Given the description of an element on the screen output the (x, y) to click on. 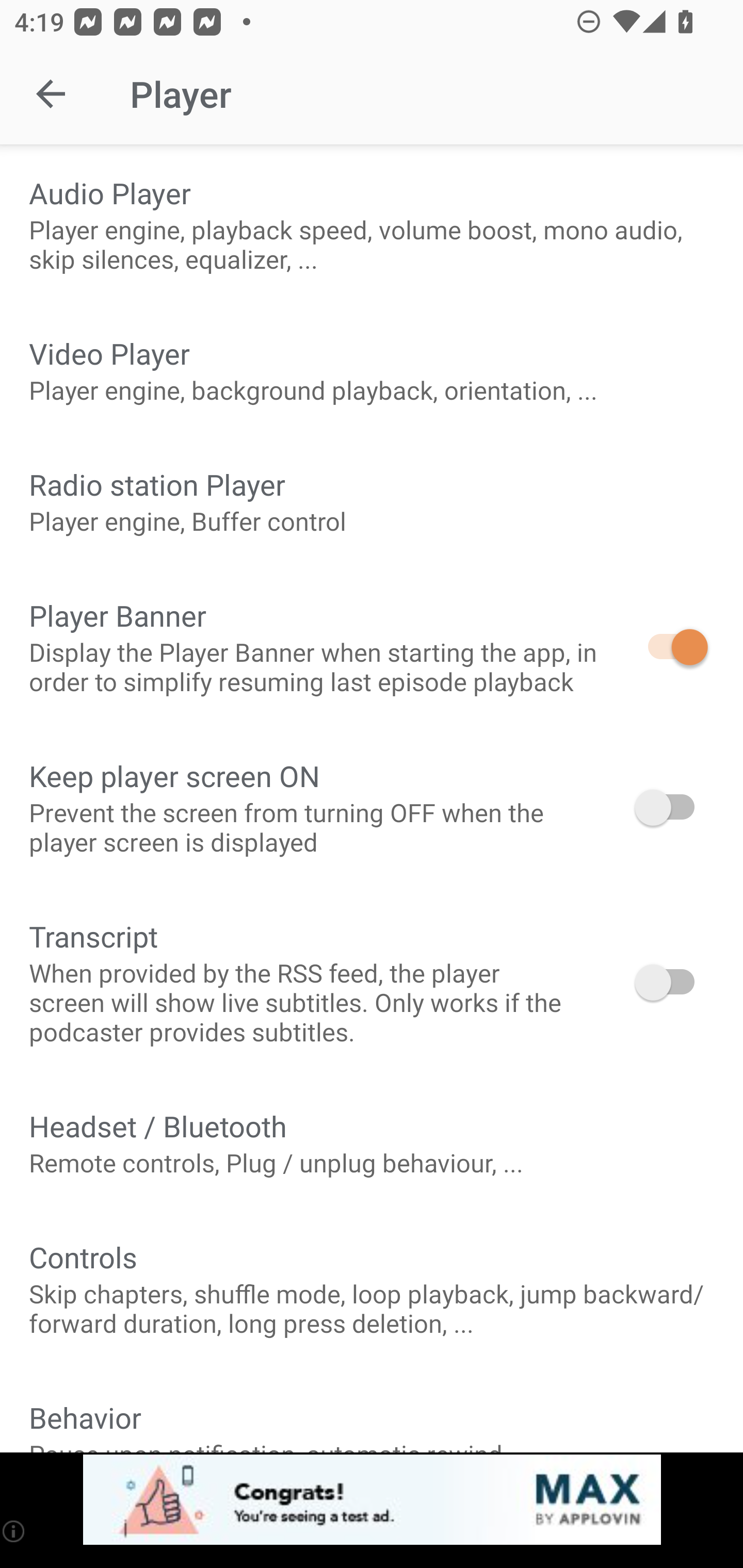
Navigate up (50, 93)
Radio station Player Player engine, Buffer control (371, 501)
app-monetization (371, 1500)
(i) (14, 1531)
